Given the description of an element on the screen output the (x, y) to click on. 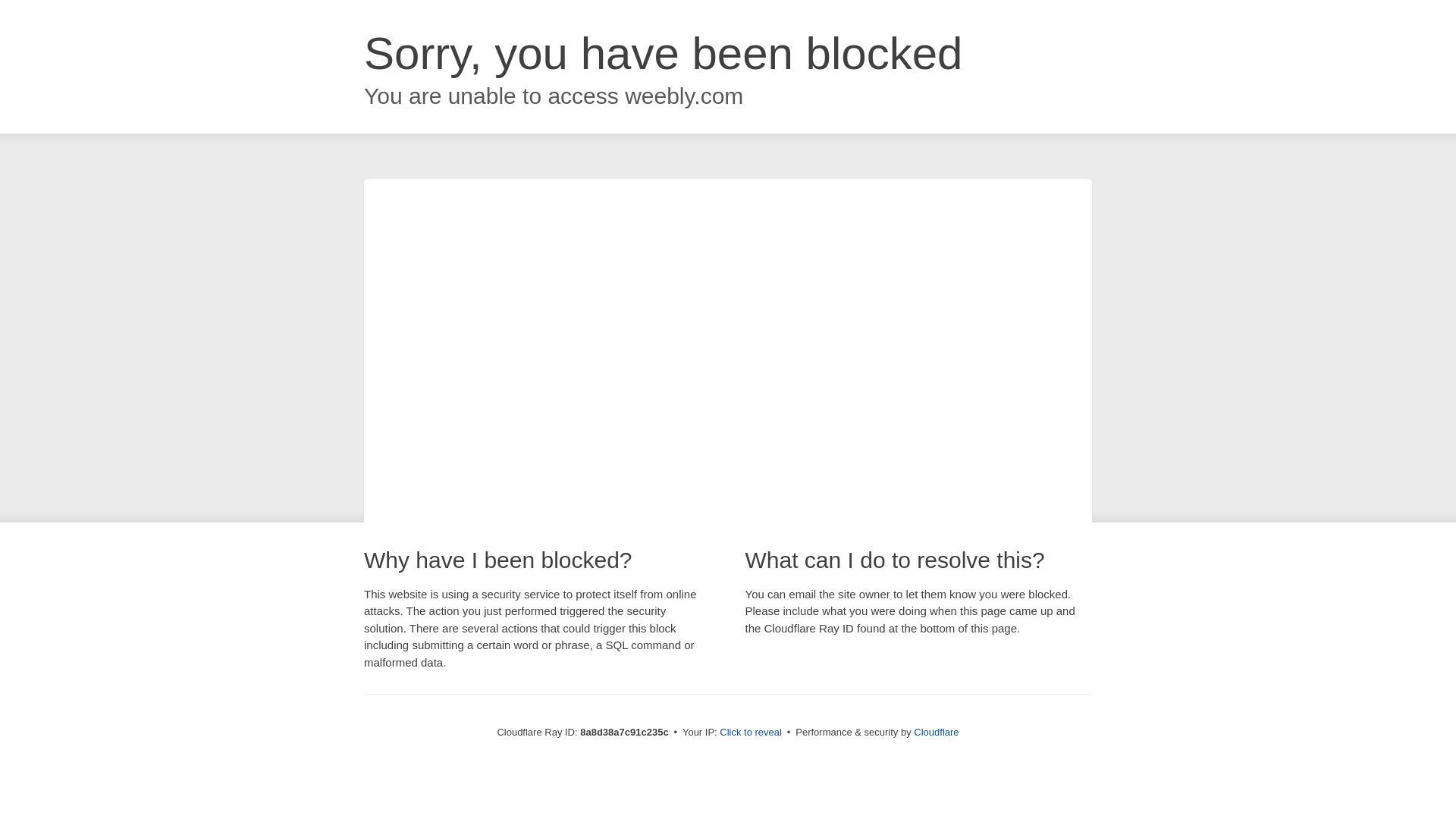
Click to reveal (750, 732)
Cloudflare (936, 731)
